Given the description of an element on the screen output the (x, y) to click on. 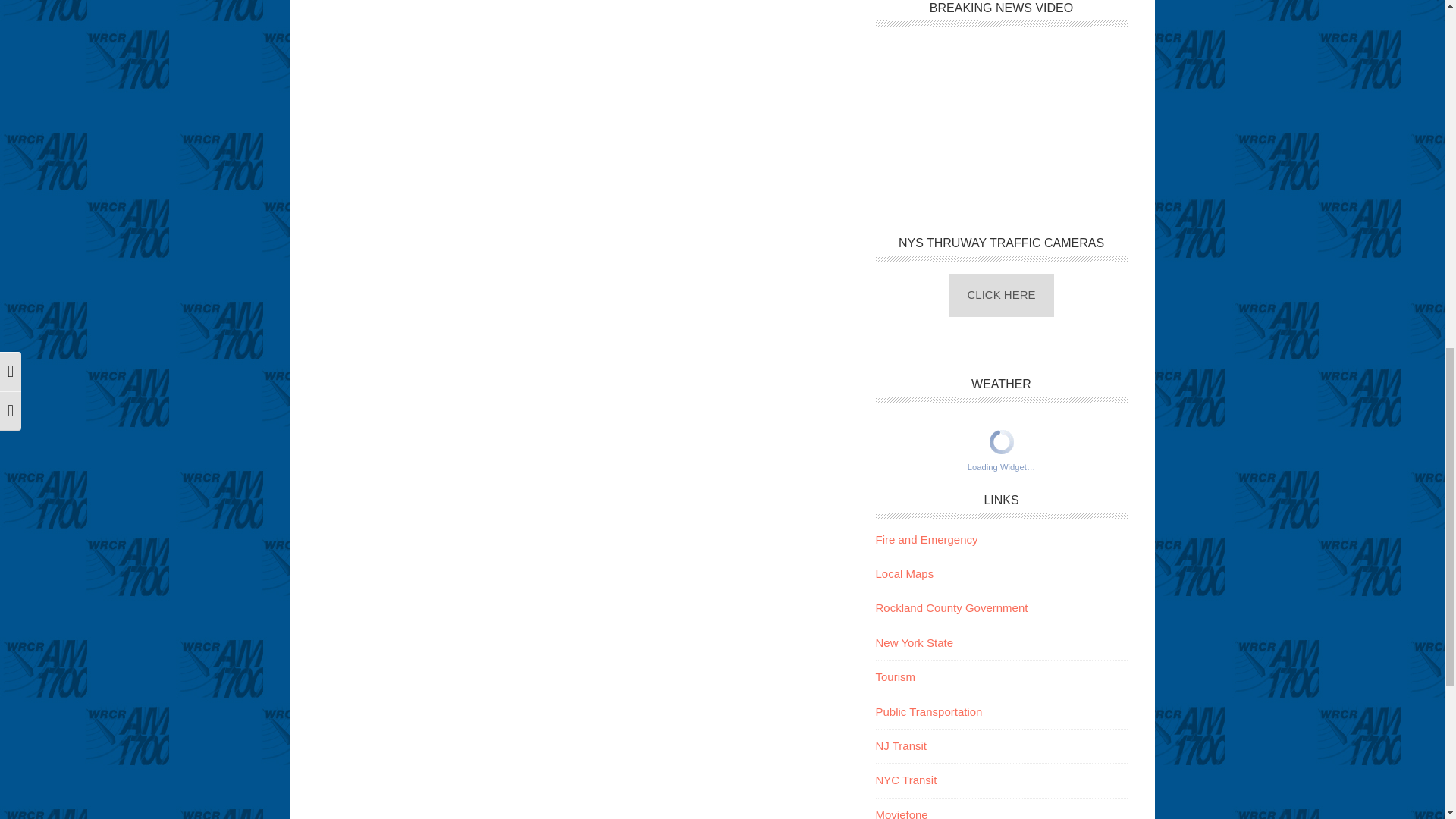
New York State (914, 642)
Tourism (895, 676)
CLICK HERE (1000, 294)
Moviefone (901, 813)
NYC Transit (905, 779)
Local Maps (904, 573)
Fire and Emergency (925, 539)
CLICK HERE (1000, 294)
Public Transportation (928, 711)
Rockland County Government (951, 607)
